Given the description of an element on the screen output the (x, y) to click on. 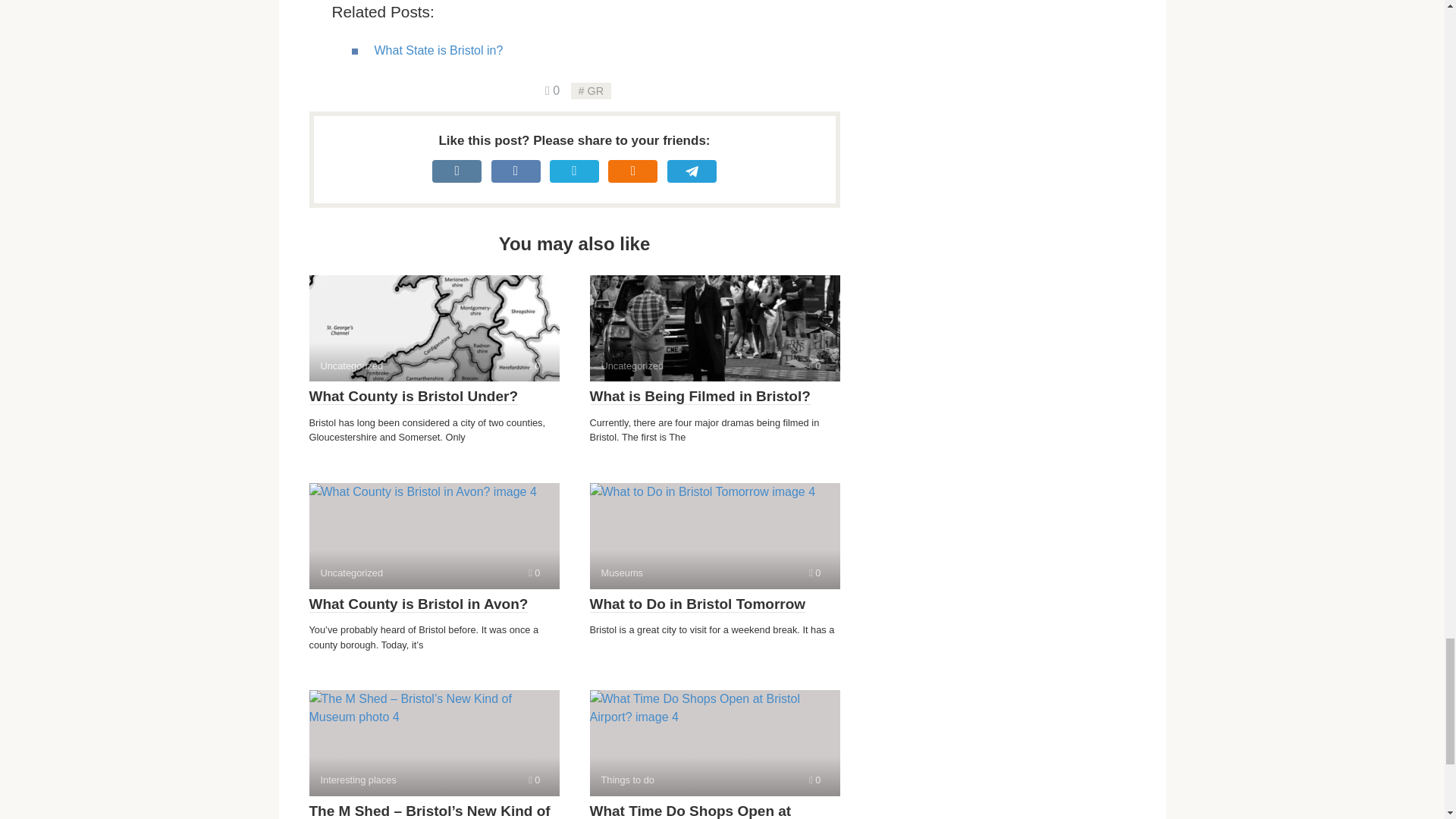
Comments (534, 779)
Comments (714, 328)
What is Being Filmed in Bristol? (714, 535)
What County is Bristol Under? (433, 743)
